Given the description of an element on the screen output the (x, y) to click on. 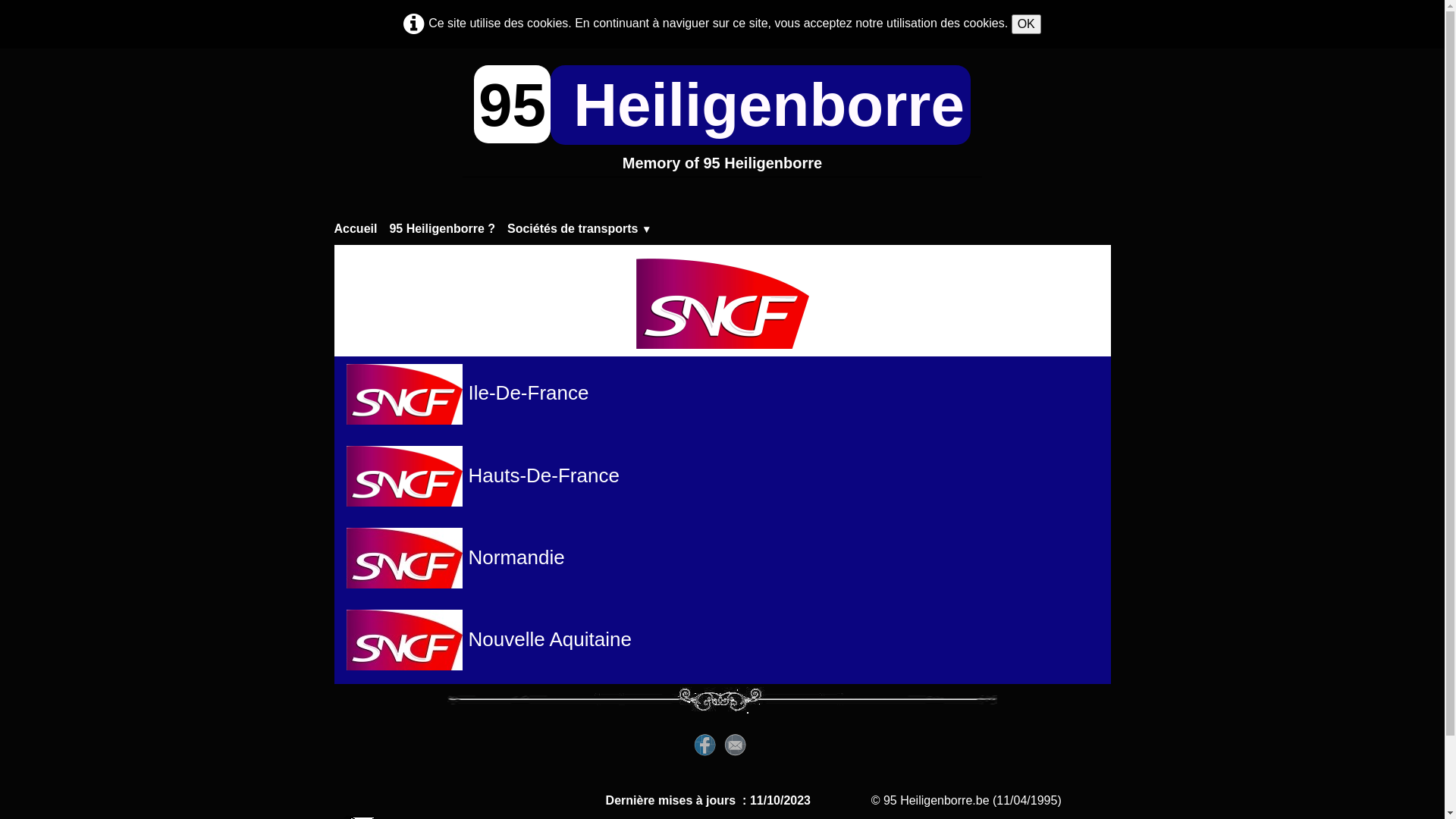
Ile-De-France Element type: text (528, 393)
Mail 95 Heiligenborre Element type: hover (359, 809)
95 Heiligenborre
Memory of 95 Heiligenborre Element type: text (722, 126)
Accueil Element type: text (361, 228)
Hauts-De-France Element type: text (543, 474)
OK Element type: text (1026, 24)
Normandie Element type: text (454, 556)
Nouvelle Aquitaine Element type: text (487, 638)
95 Heiligenborre ? Element type: text (448, 228)
